Given the description of an element on the screen output the (x, y) to click on. 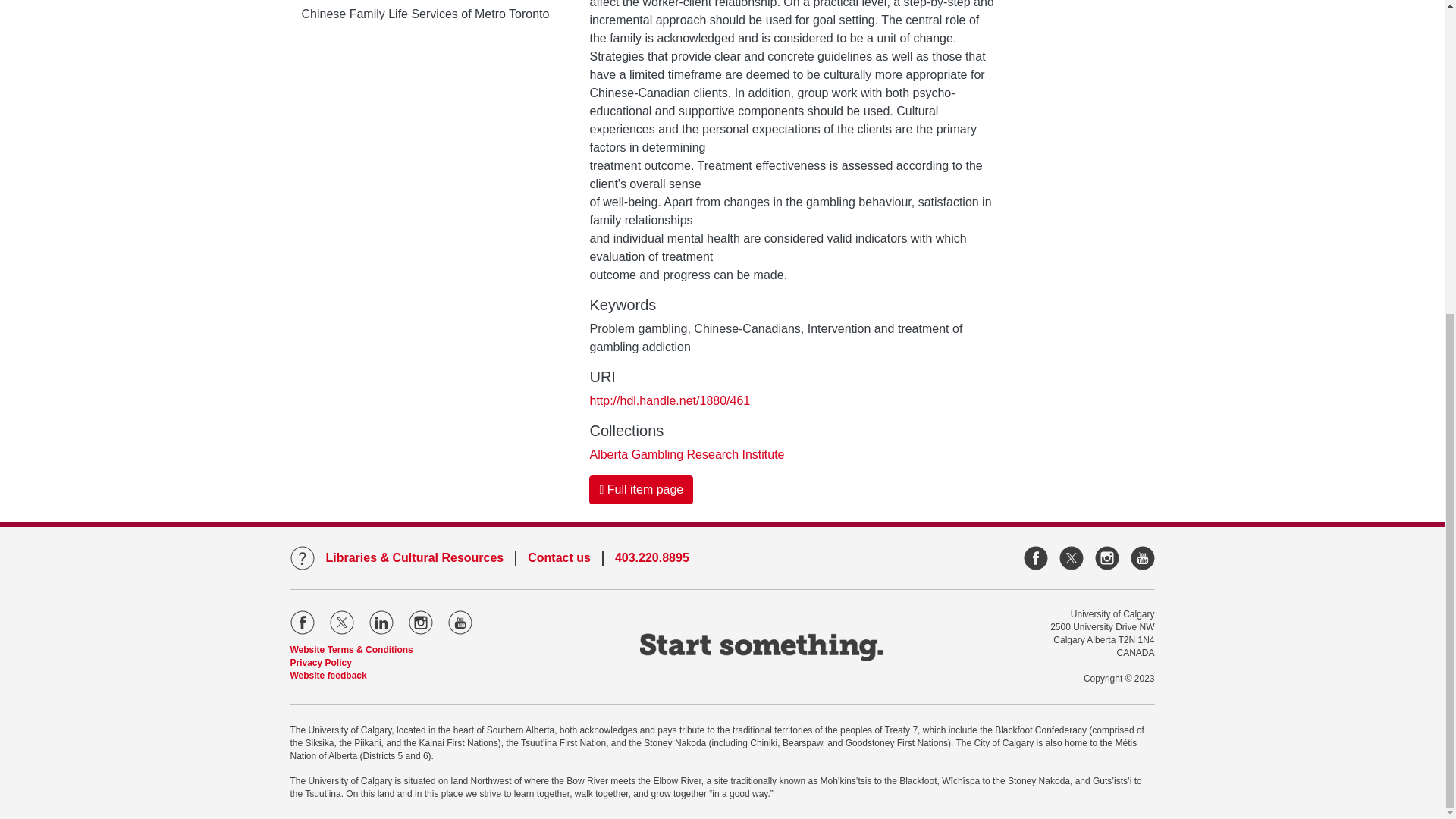
403.220.8895 (651, 558)
Alberta Gambling Research Institute (686, 454)
Full item page (641, 489)
Contact us (559, 558)
